Given the description of an element on the screen output the (x, y) to click on. 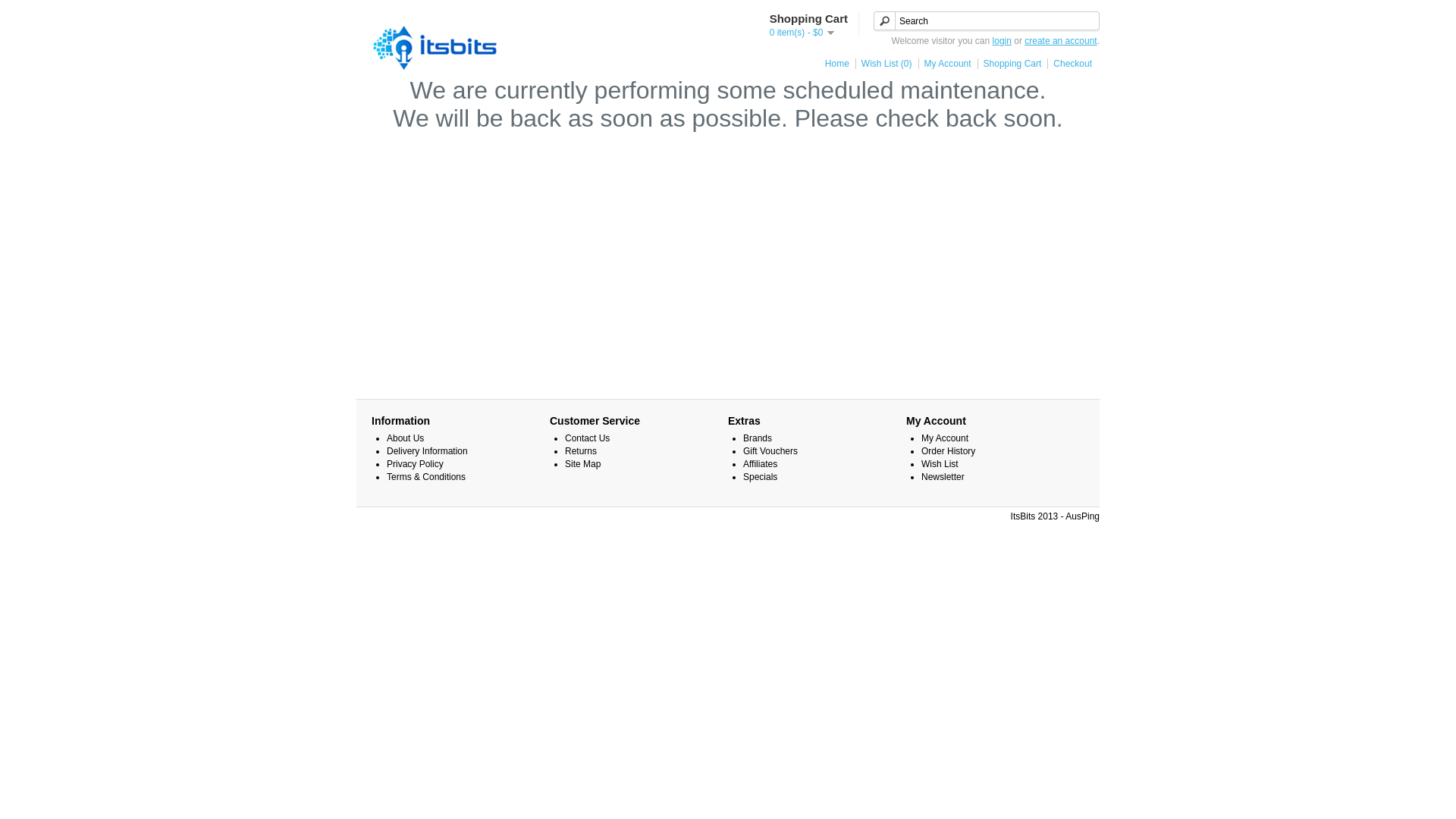
Contact Us Element type: text (586, 438)
Delivery Information Element type: text (426, 450)
Specials Element type: text (760, 476)
Wish List (0) Element type: text (883, 63)
Privacy Policy Element type: text (414, 463)
create an account Element type: text (1060, 40)
login Element type: text (1001, 40)
Newsletter Element type: text (942, 476)
Home Element type: text (834, 63)
Affiliates Element type: text (760, 463)
My Account Element type: text (944, 63)
Checkout Element type: text (1069, 63)
Search Element type: text (986, 20)
About Us Element type: text (404, 438)
Gift Vouchers Element type: text (770, 450)
0 item(s) - $0 Element type: text (801, 32)
ItsBits - Computer Component Specialists Element type: hover (435, 45)
Wish List Element type: text (939, 463)
My Account Element type: text (944, 438)
Order History Element type: text (948, 450)
Shopping Cart Element type: text (1009, 63)
Site Map Element type: text (582, 463)
Returns Element type: text (580, 450)
Terms & Conditions Element type: text (425, 476)
Brands Element type: text (757, 438)
